Given the description of an element on the screen output the (x, y) to click on. 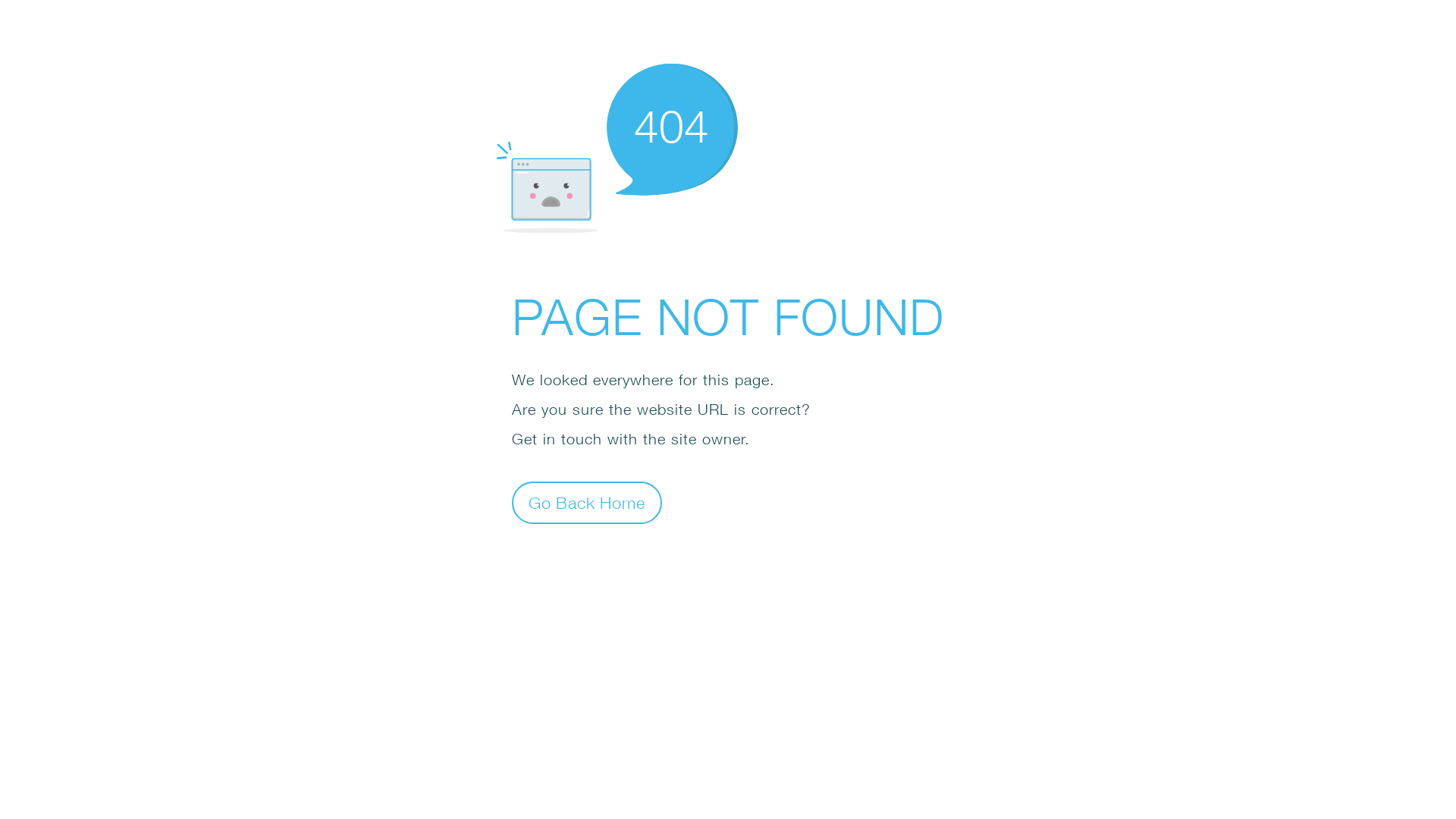
Go Back Home Element type: text (586, 502)
